Given the description of an element on the screen output the (x, y) to click on. 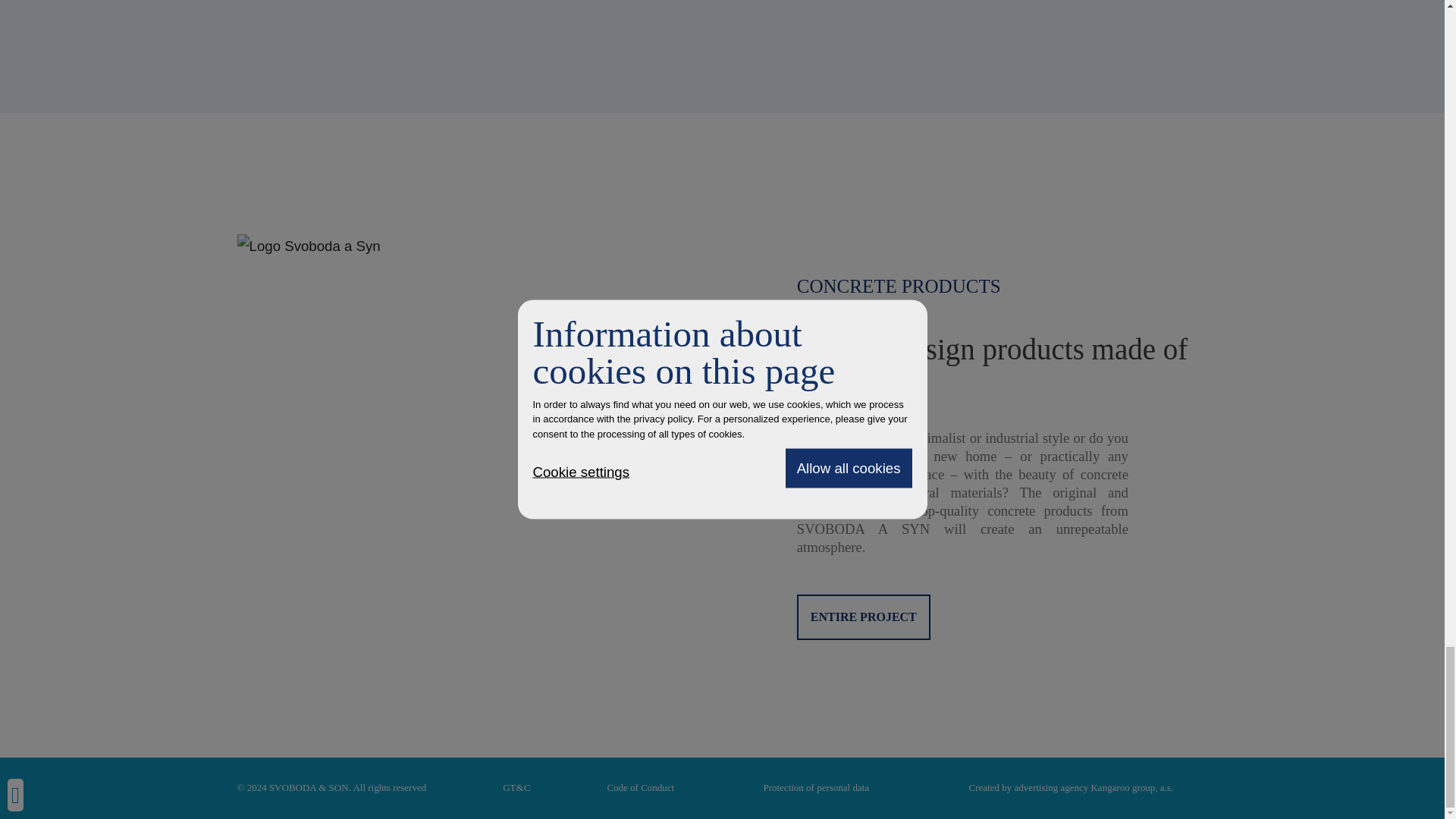
Kangaroo group, a.s. (1131, 787)
ENTIRE PROJECT (863, 617)
Code of Conduct (640, 787)
Protection of personal data (815, 787)
